Given the description of an element on the screen output the (x, y) to click on. 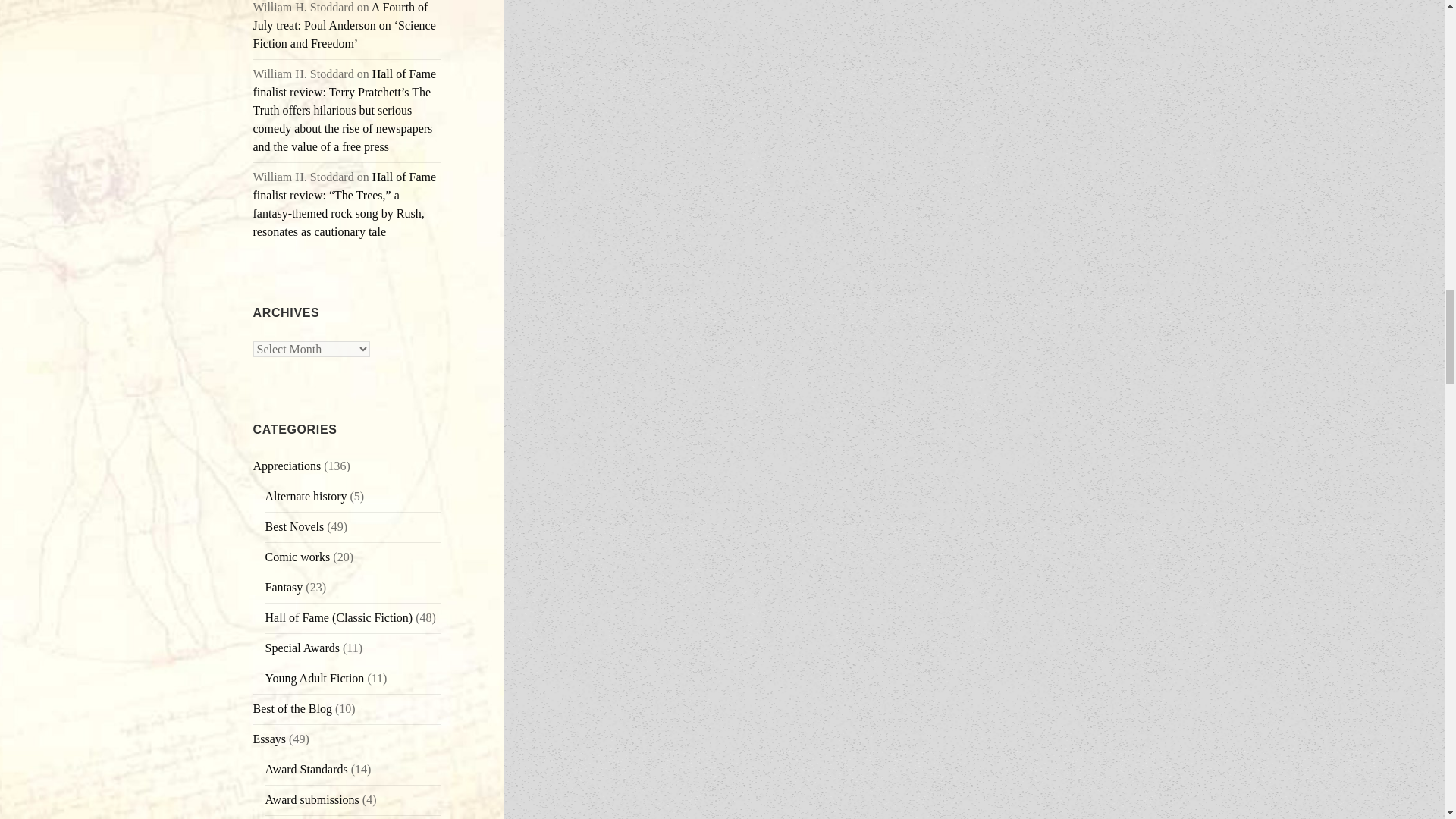
Best of the Blog (292, 707)
Appreciations (287, 465)
Fantasy (283, 586)
The best articles on LFS.org (292, 707)
Alternate history (305, 495)
Special Awards (302, 647)
Comic works (297, 556)
Best Novels (294, 526)
Essays (269, 738)
Award Standards (305, 768)
Young Adult Fiction (314, 677)
